Given the description of an element on the screen output the (x, y) to click on. 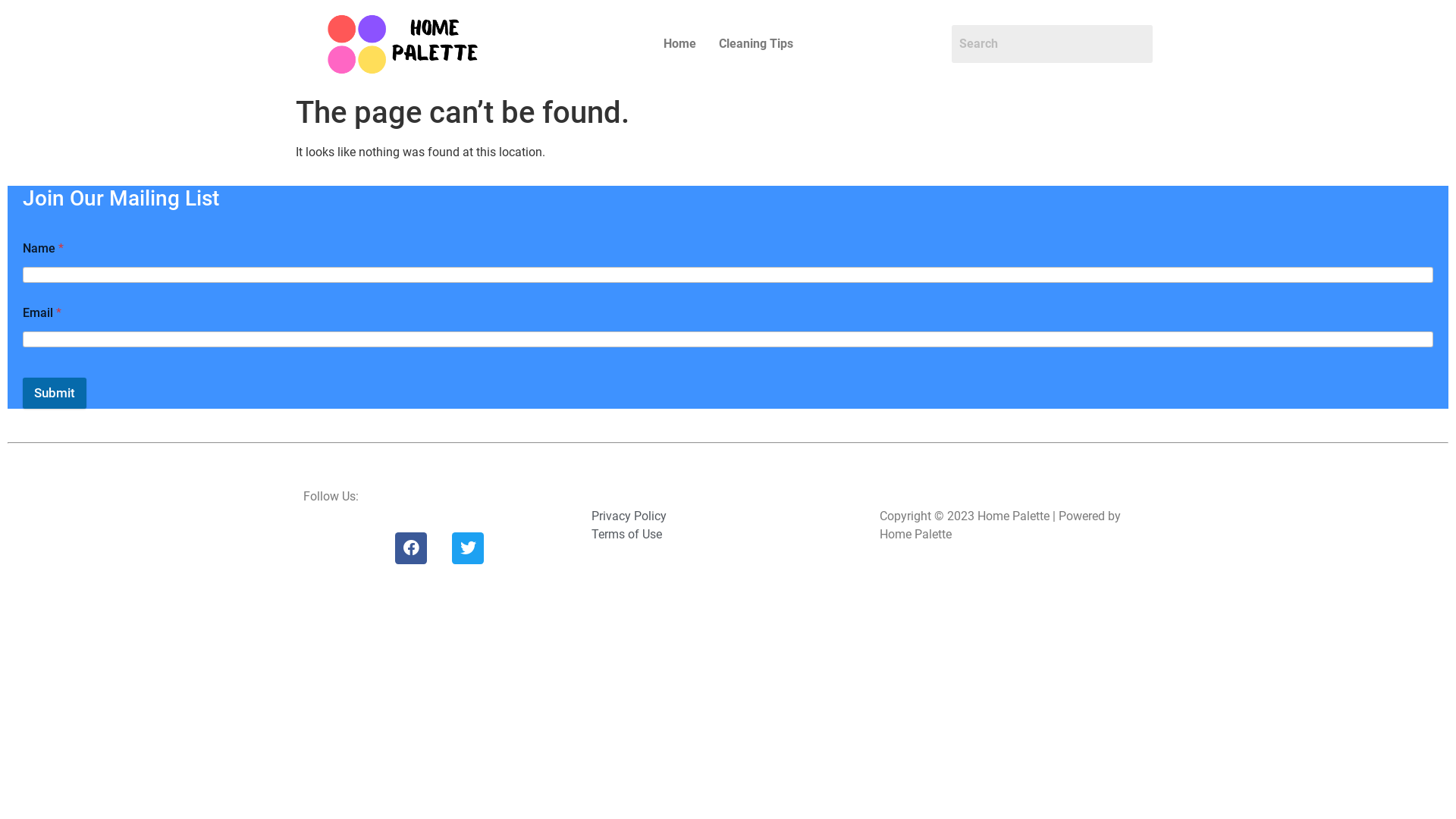
Privacy Policy Element type: text (727, 516)
Cleaning Tips Element type: text (754, 43)
Submit Element type: text (54, 392)
Search Element type: hover (1051, 43)
Home Element type: text (679, 43)
Terms of Use Element type: text (727, 534)
